Given the description of an element on the screen output the (x, y) to click on. 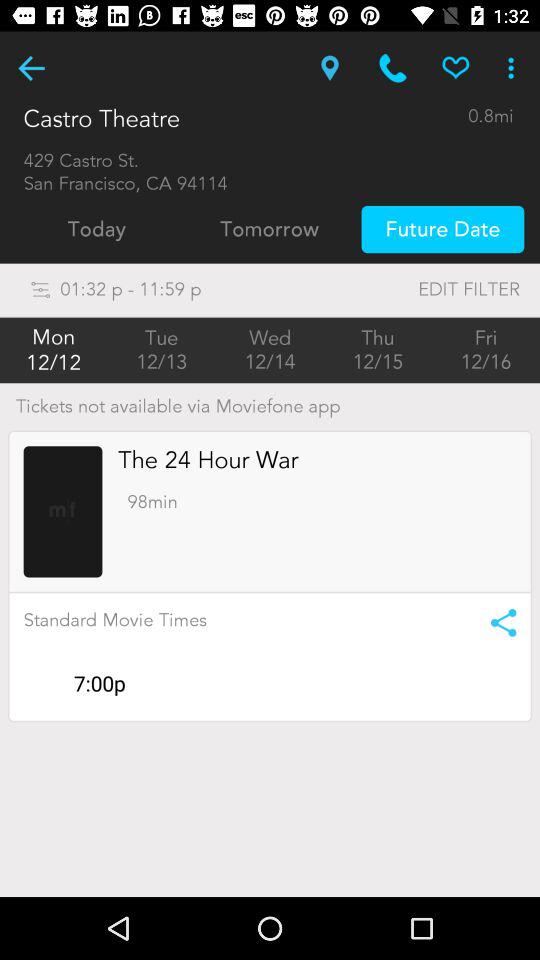
turn off icon above 0.8mi (455, 67)
